Given the description of an element on the screen output the (x, y) to click on. 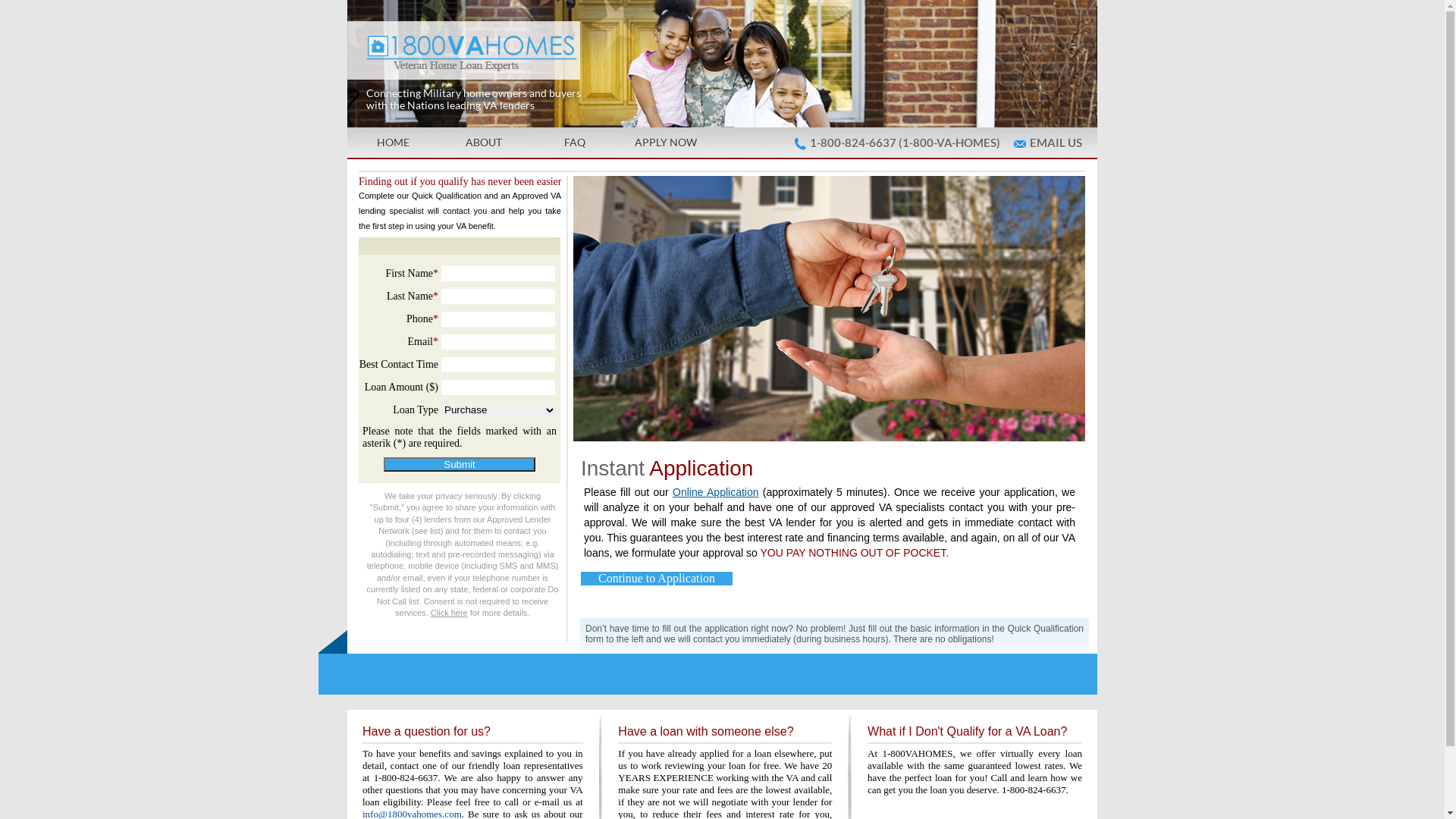
ABOUT Element type: text (483, 142)
EMAIL US Element type: text (1055, 142)
FAQ Element type: text (574, 142)
1 800 VA HOMES
Veteran Home Loan Experts Element type: text (584, 47)
Submit Element type: text (459, 464)
APPLY NOW Element type: text (665, 142)
Online Application Element type: text (715, 492)
Continue to Application Element type: text (656, 578)
HOME Element type: text (392, 142)
Click here Element type: text (448, 612)
